Given the description of an element on the screen output the (x, y) to click on. 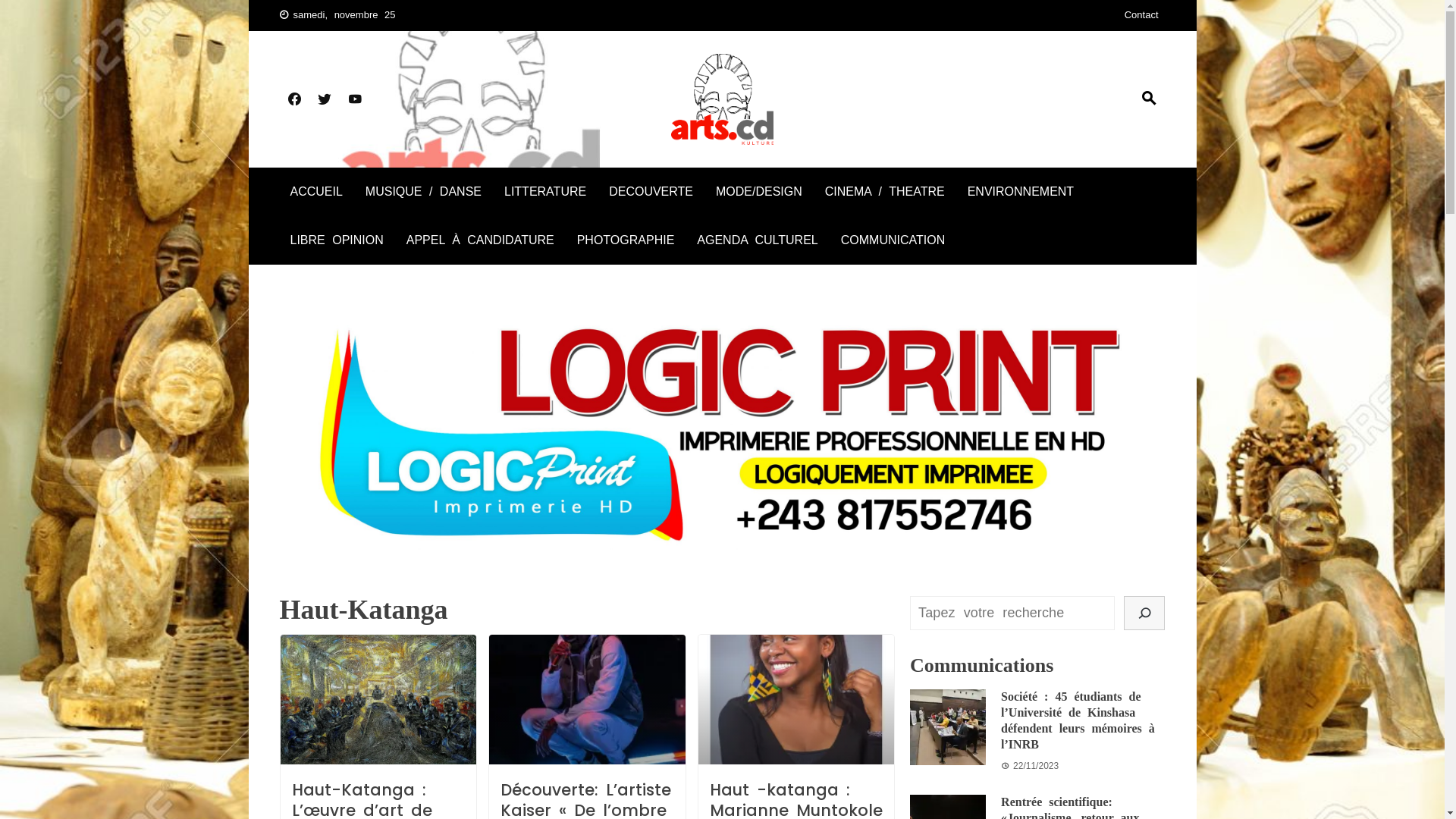
DECOUVERTE Element type: text (650, 191)
LITTERATURE Element type: text (545, 191)
MUSIQUE / DANSE Element type: text (423, 191)
PHOTOGRAPHIE Element type: text (625, 240)
MODE/DESIGN Element type: text (758, 191)
COMMUNICATION Element type: text (892, 240)
AGENDA CULTUREL Element type: text (756, 240)
CINEMA / THEATRE Element type: text (884, 191)
ACCUEIL Element type: text (315, 191)
ENVIRONNEMENT Element type: text (1020, 191)
LIBRE OPINION Element type: text (335, 240)
Contact Element type: text (1141, 14)
